Given the description of an element on the screen output the (x, y) to click on. 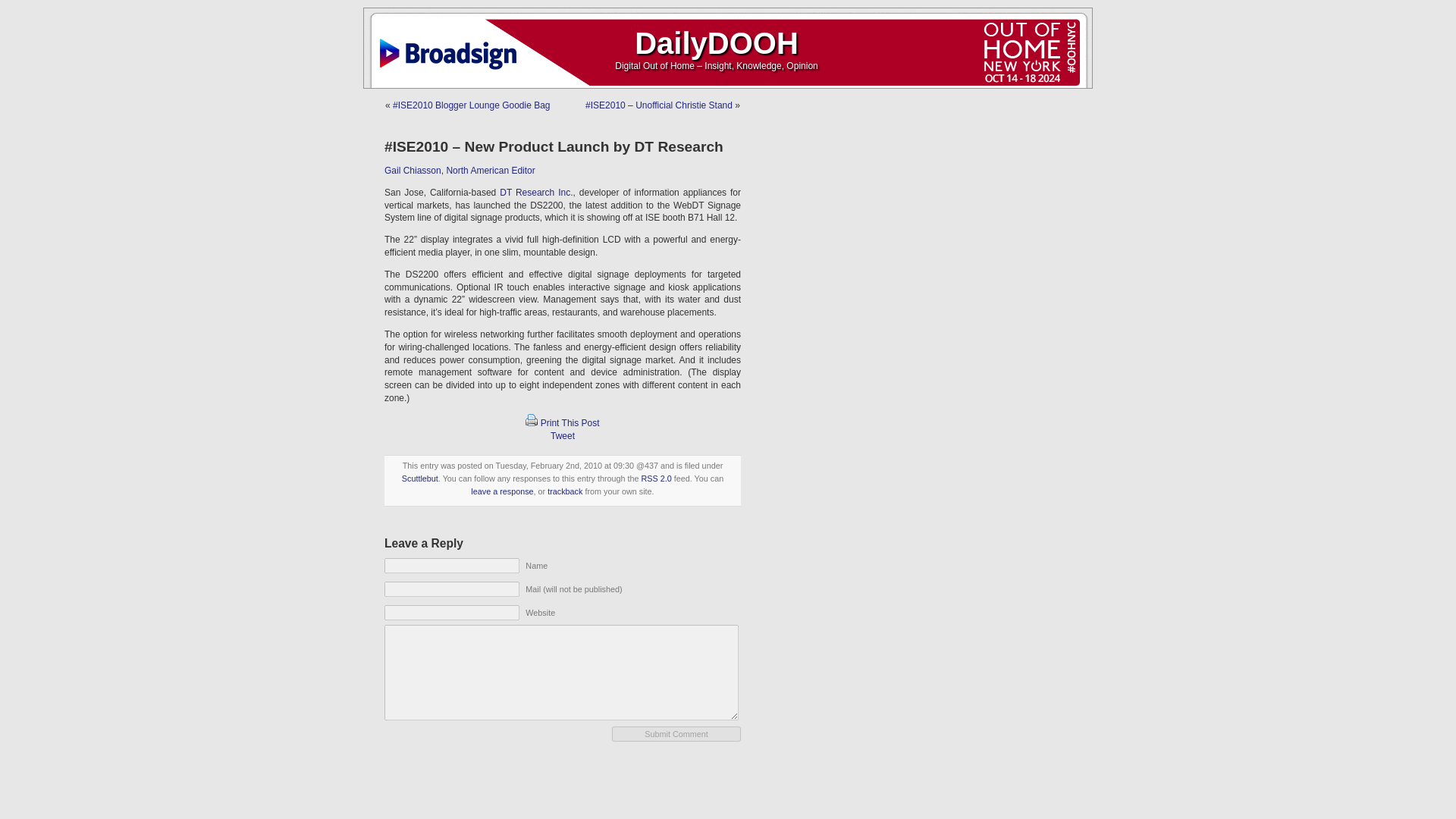
Tweet (562, 435)
Scuttlebut (419, 478)
Print This Post (569, 422)
DailyDOOH (715, 42)
RSS 2.0 (656, 478)
Submit Comment (676, 734)
BroadSign Digital Signage Software (451, 46)
Gail Chiasson (412, 170)
North American Editor (489, 170)
